Given the description of an element on the screen output the (x, y) to click on. 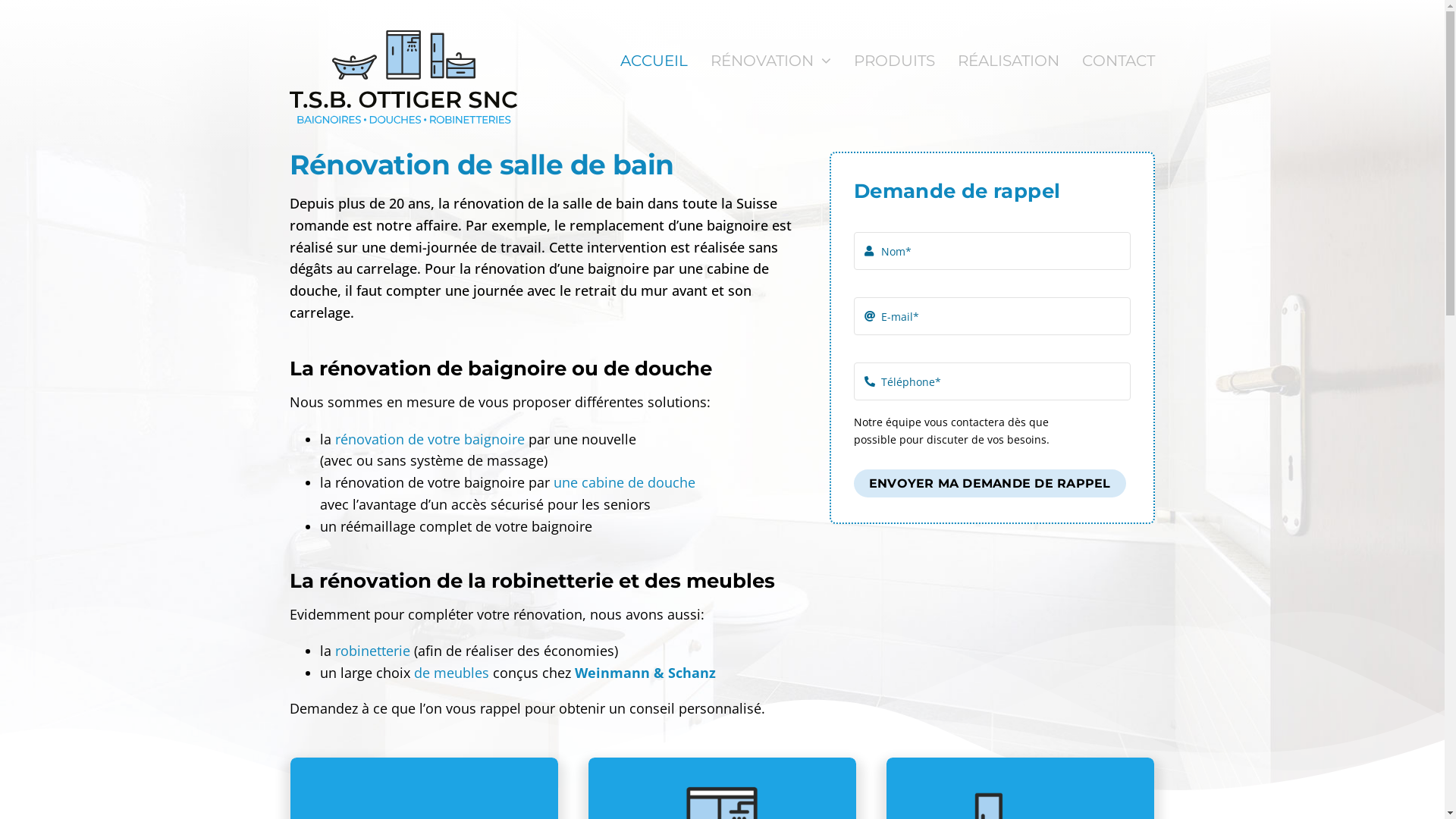
PRODUITS Element type: text (894, 60)
Weinmann & Schanz Element type: text (644, 672)
robinetterie Element type: text (372, 650)
ACCUEIL Element type: text (653, 60)
CONTACT Element type: text (1118, 60)
une cabine de douche Element type: text (624, 482)
ENVOYER MA DEMANDE DE RAPPEL Element type: text (989, 483)
de meubles Element type: text (451, 672)
